Given the description of an element on the screen output the (x, y) to click on. 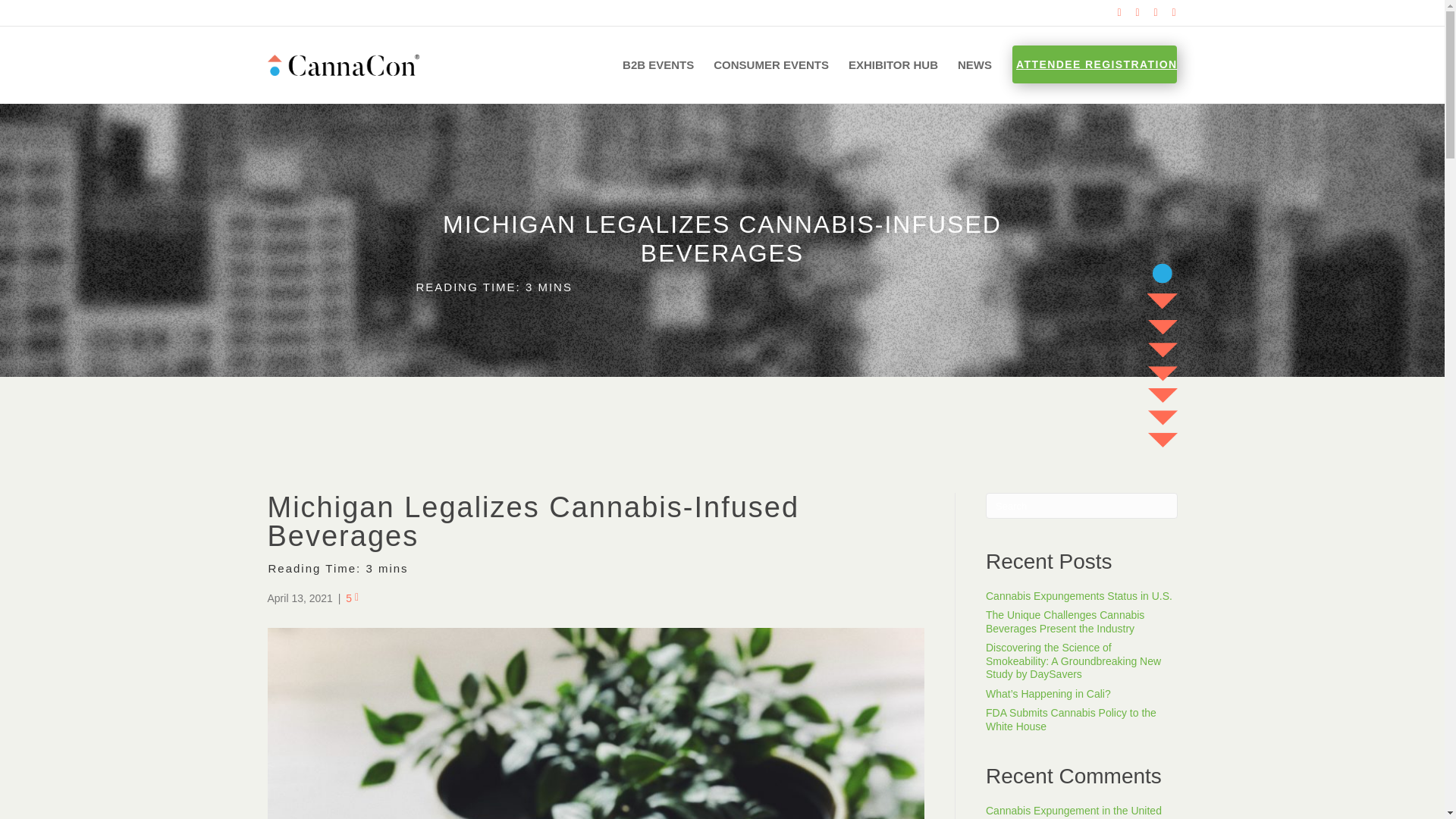
EXHIBITOR HUB (892, 64)
Twitter (1129, 11)
CONSUMER EVENTS (770, 64)
Facebook (1111, 11)
5 (352, 598)
Type and press Enter to search. (1081, 505)
Linkedin (1147, 11)
Group (1162, 354)
ATTENDEE REGISTRATION (1093, 64)
NEWS (974, 64)
B2B EVENTS (657, 64)
Instagram (1165, 11)
